Given the description of an element on the screen output the (x, y) to click on. 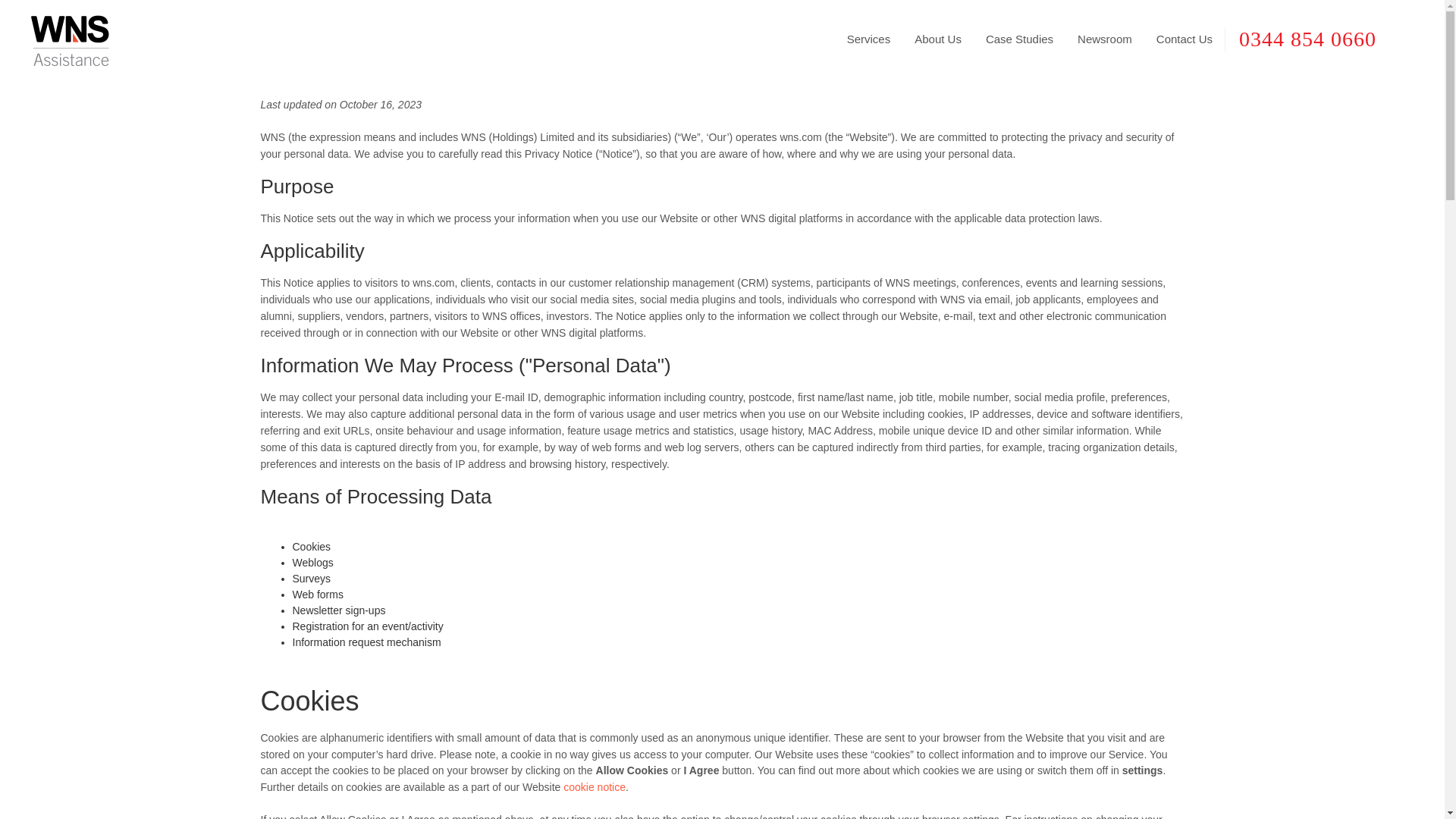
Newsroom (1104, 39)
WNS Assistance (69, 39)
0344 854 0660 (1322, 39)
About Us (938, 39)
Case Studies (1019, 39)
Contact Us (1184, 39)
